Given the description of an element on the screen output the (x, y) to click on. 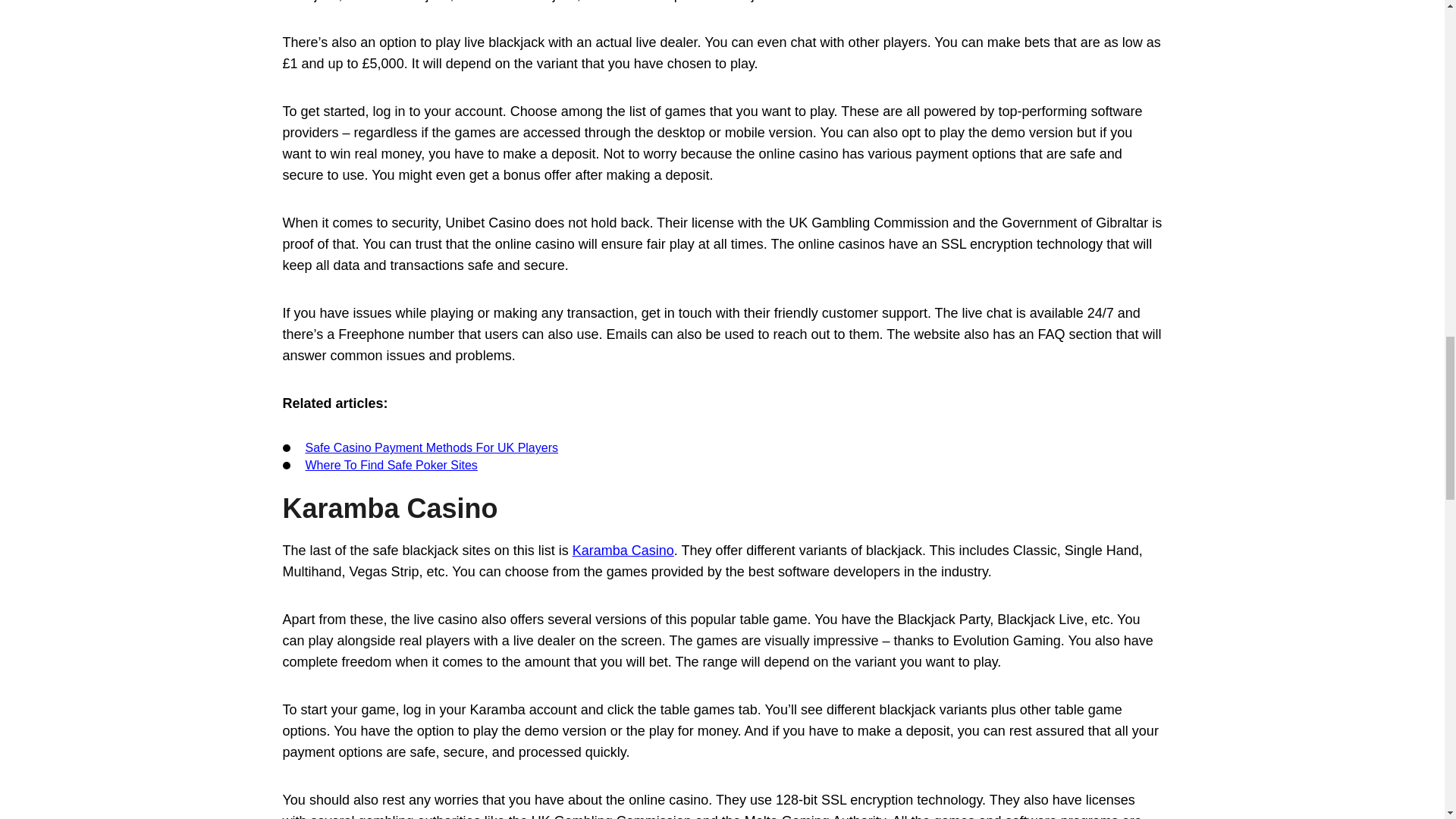
Safe Casino Payment Methods For UK Players (430, 447)
